Given the description of an element on the screen output the (x, y) to click on. 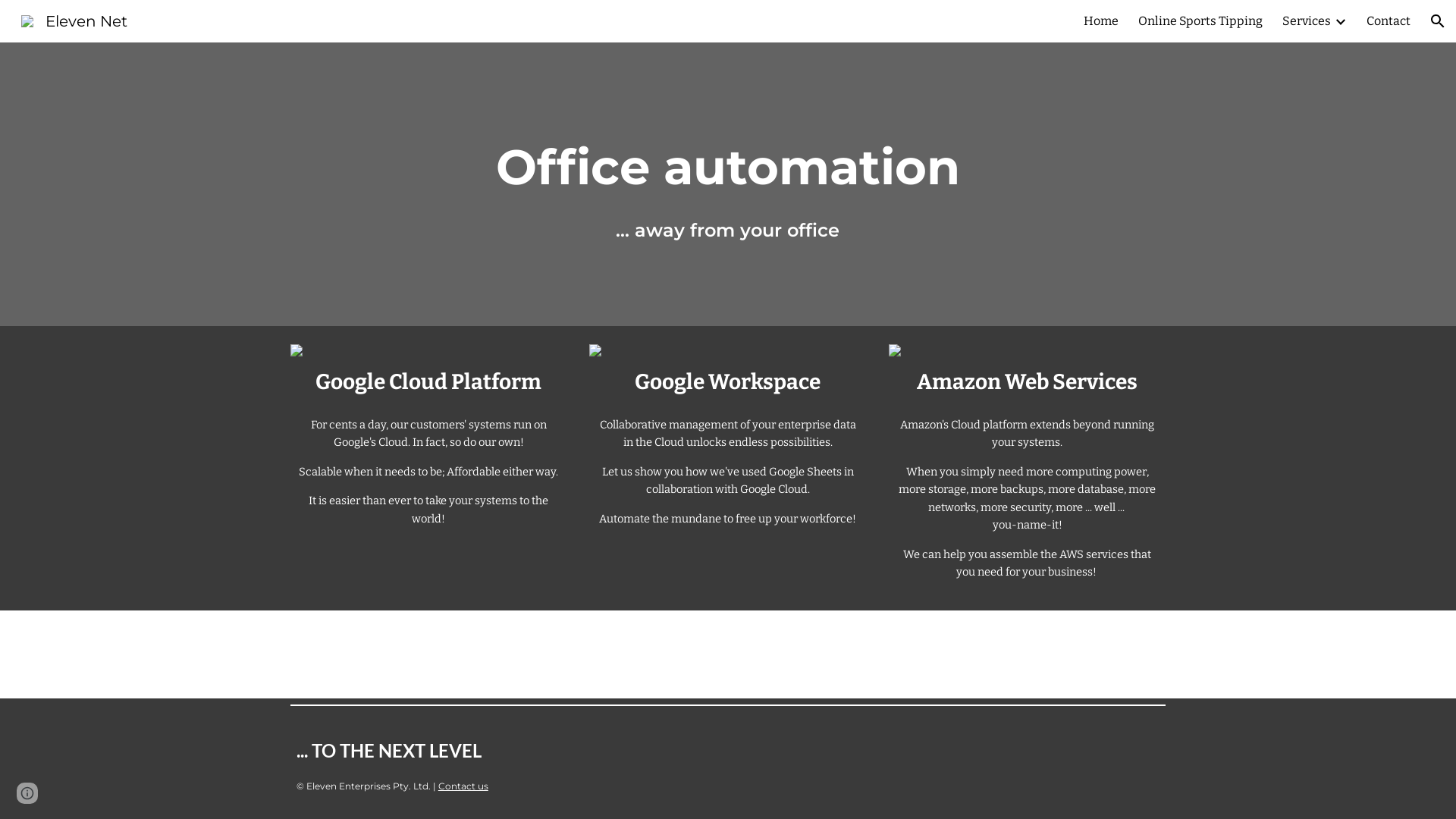
Home Element type: text (1100, 20)
Online Sports Tipping Element type: text (1200, 20)
Contact Element type: text (1388, 20)
Eleven Net Element type: text (74, 19)
Contact us Element type: text (463, 785)
Services Element type: text (1306, 20)
Expand/Collapse Element type: hover (1339, 20)
